Given the description of an element on the screen output the (x, y) to click on. 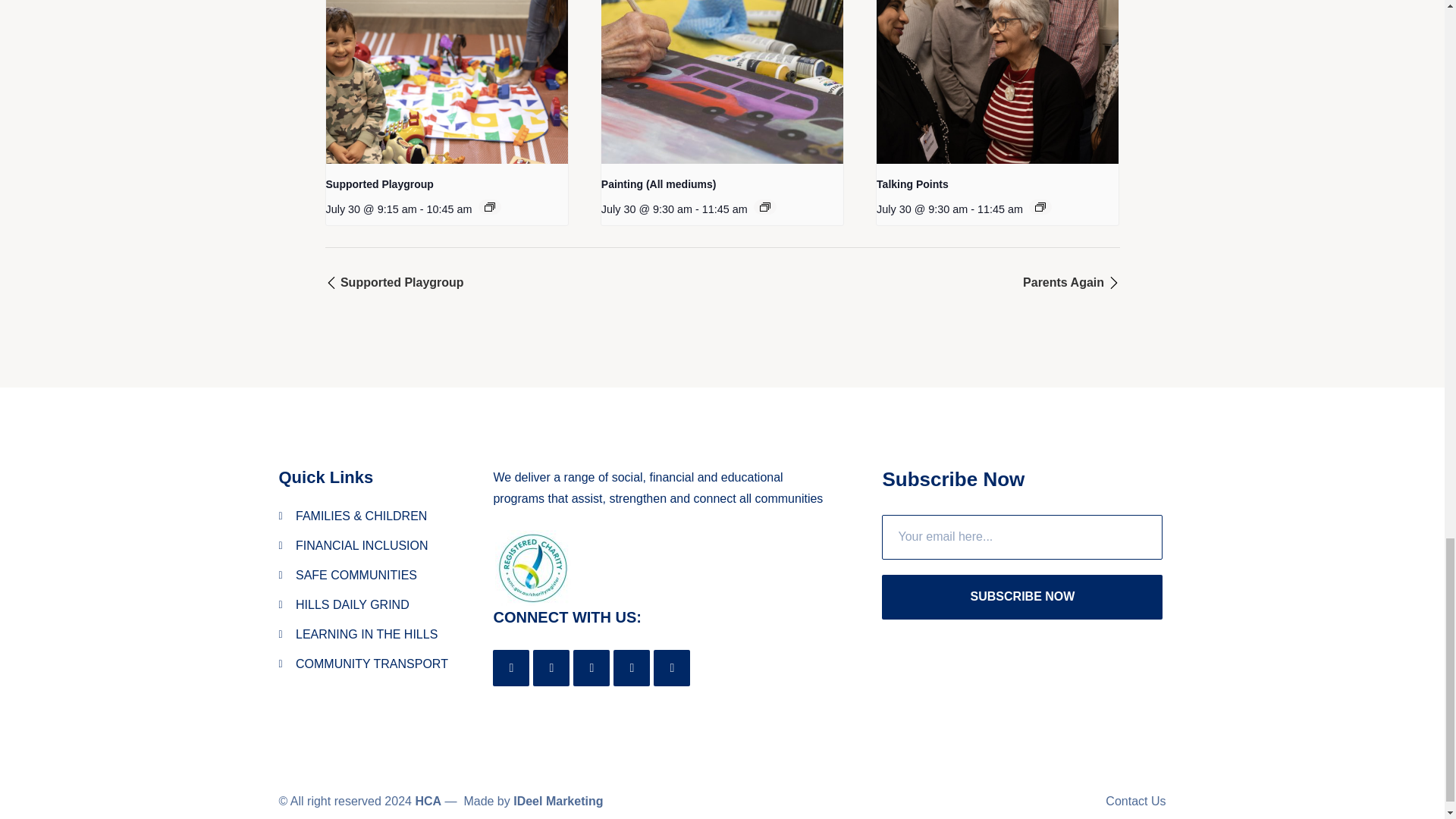
Event Series (1040, 206)
Event Series (765, 206)
Event Series (489, 206)
ACNC Registered Charity Tick (532, 567)
